Given the description of an element on the screen output the (x, y) to click on. 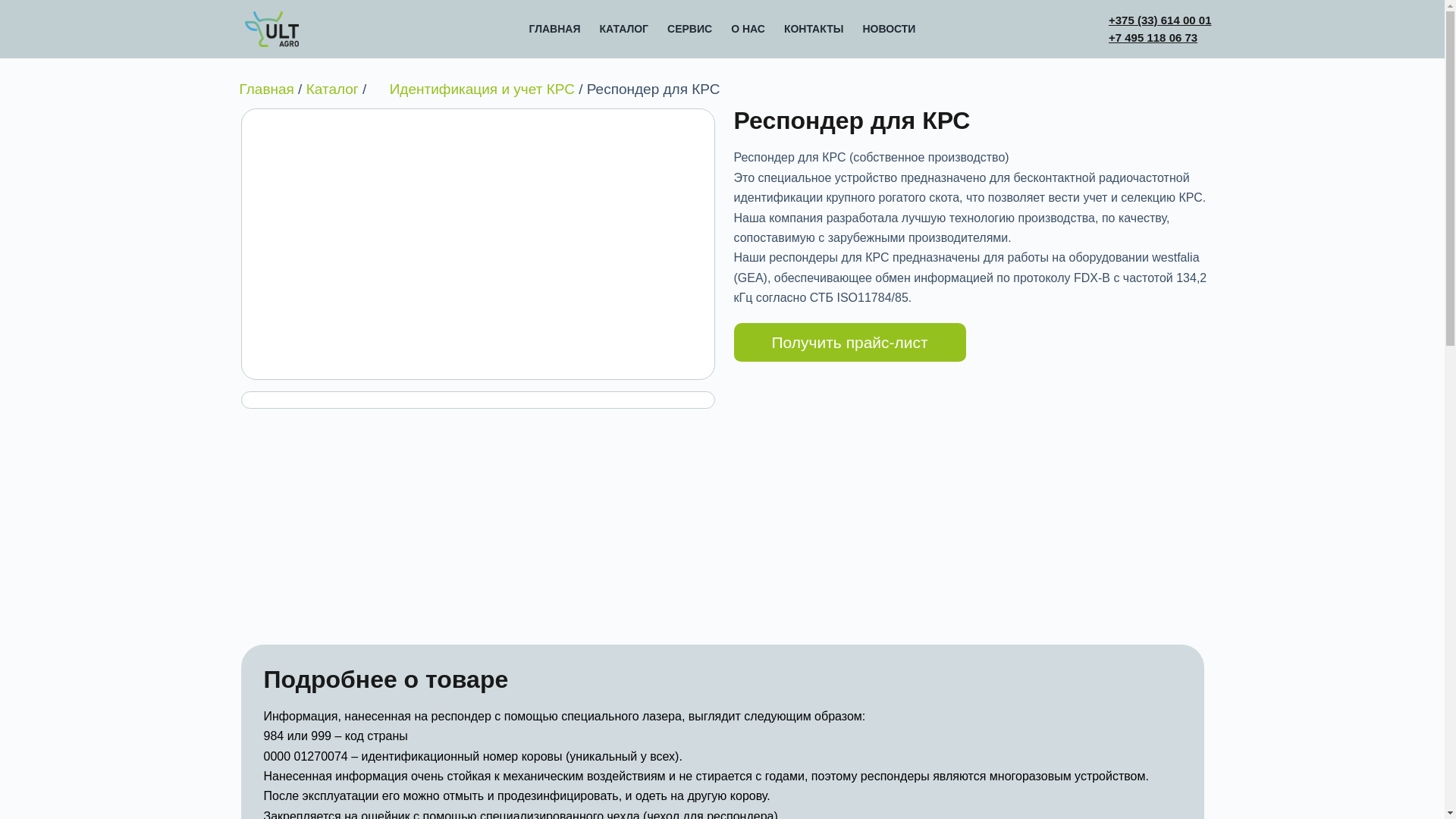
+7 495 118 06 73 Element type: text (1152, 37)
+375 (33) 614 00 01 Element type: text (1159, 19)
